Given the description of an element on the screen output the (x, y) to click on. 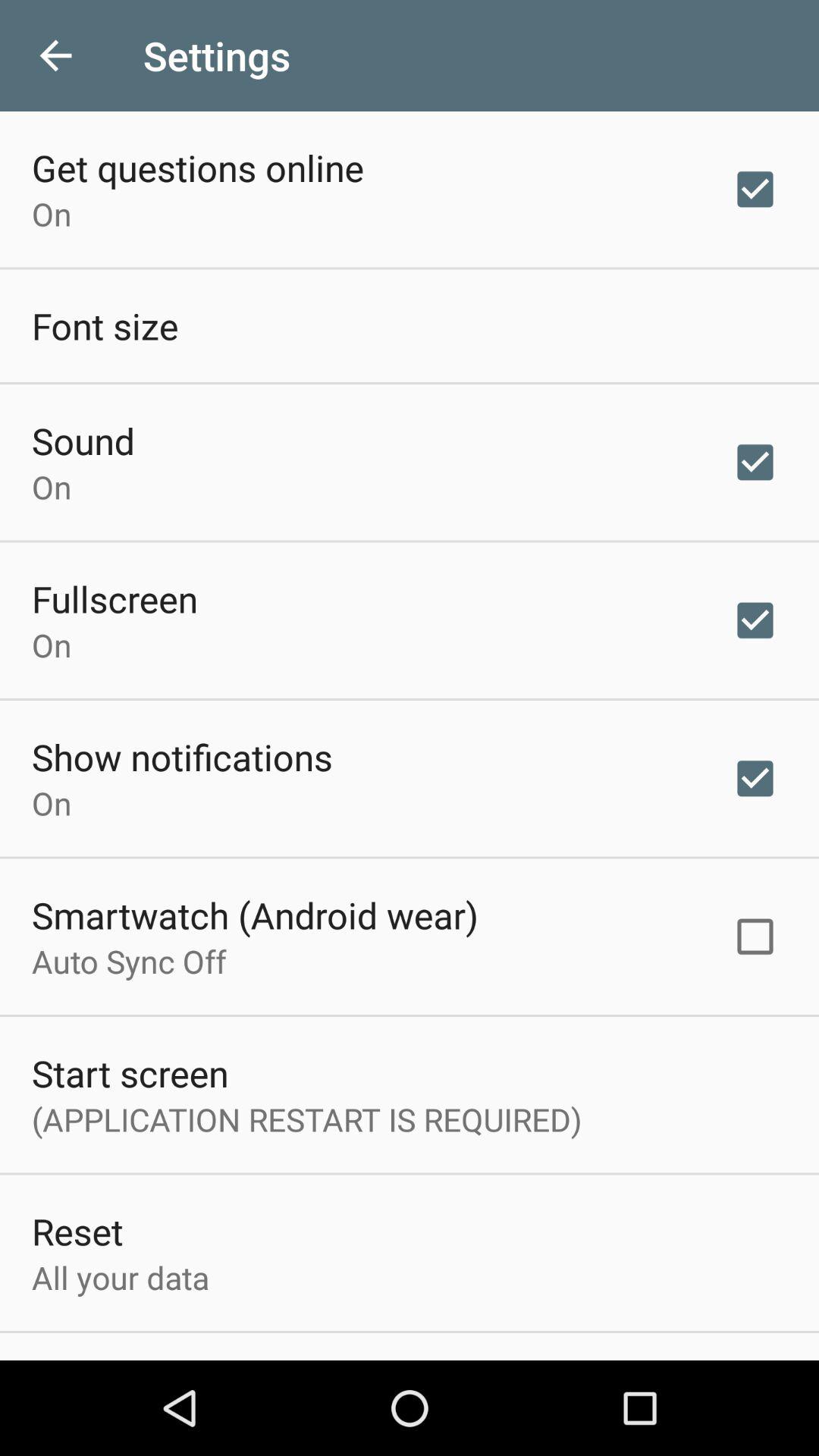
choose the icon above the auto sync off item (254, 914)
